Given the description of an element on the screen output the (x, y) to click on. 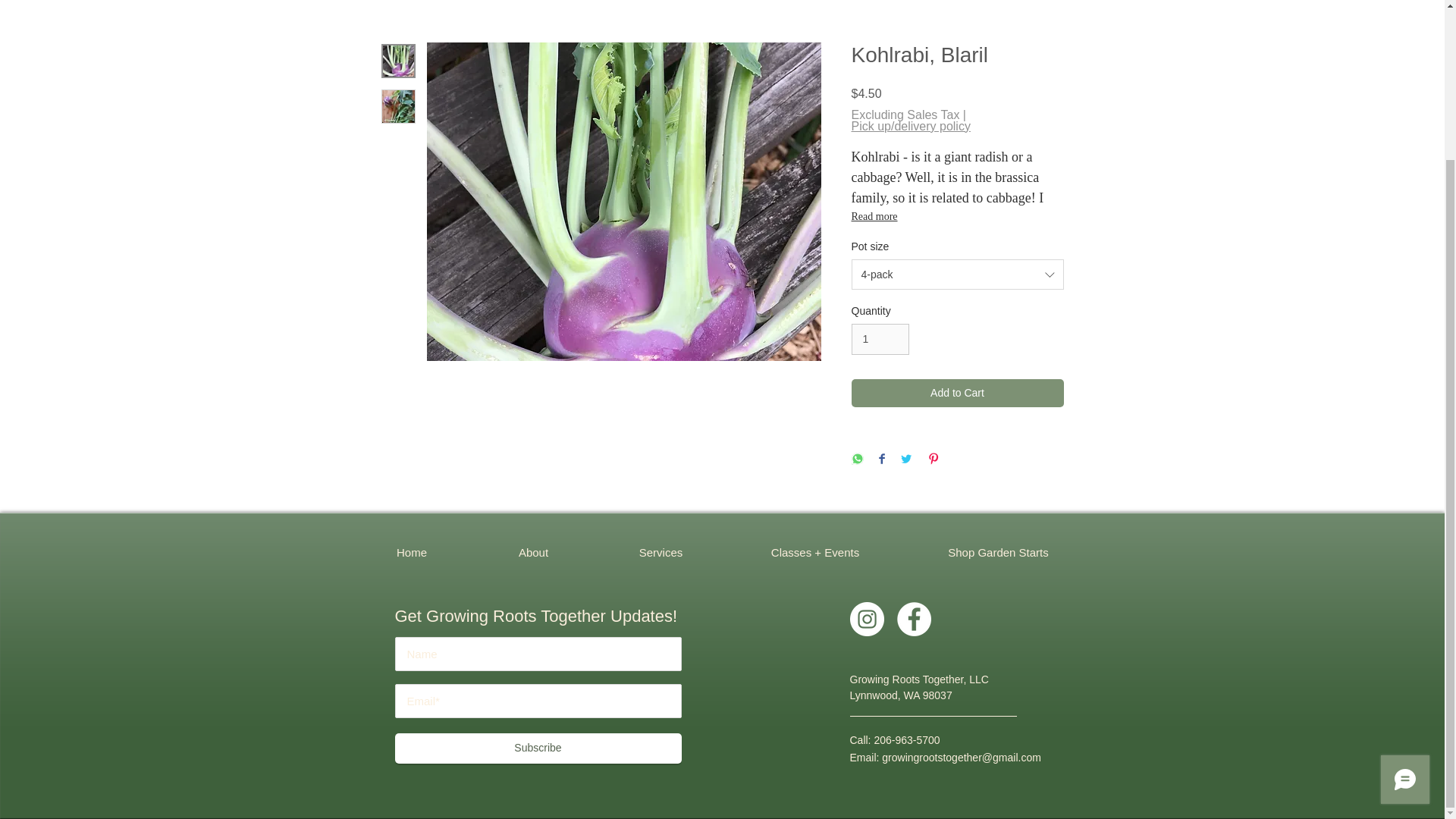
Read more (956, 216)
Services (661, 552)
Shop Garden Starts (997, 552)
1 (879, 338)
Add to Cart (956, 393)
About (533, 552)
Subscribe (537, 748)
Home (410, 552)
4-pack (956, 274)
